Given the description of an element on the screen output the (x, y) to click on. 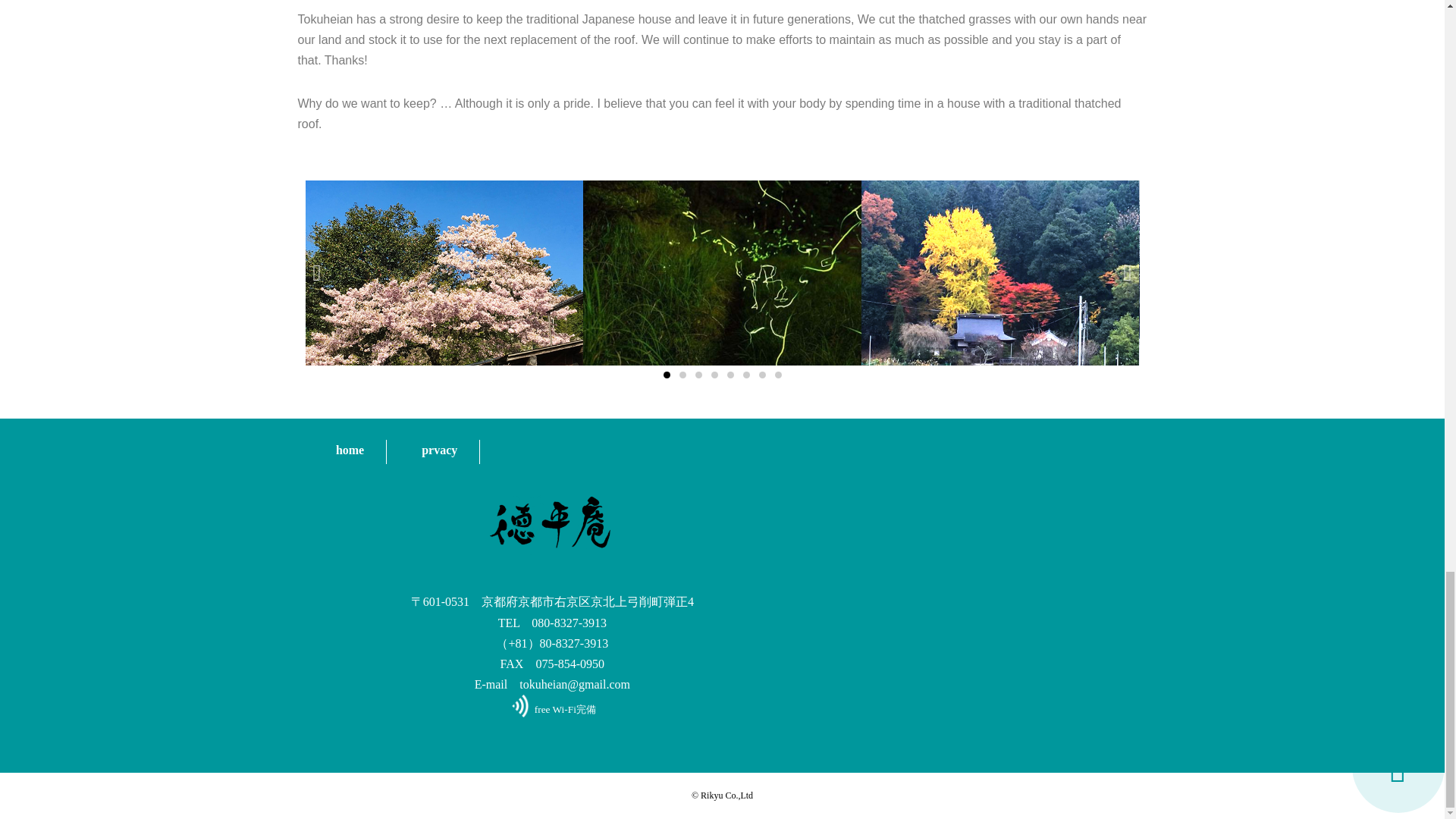
home (349, 451)
prvacy (439, 451)
